Given the description of an element on the screen output the (x, y) to click on. 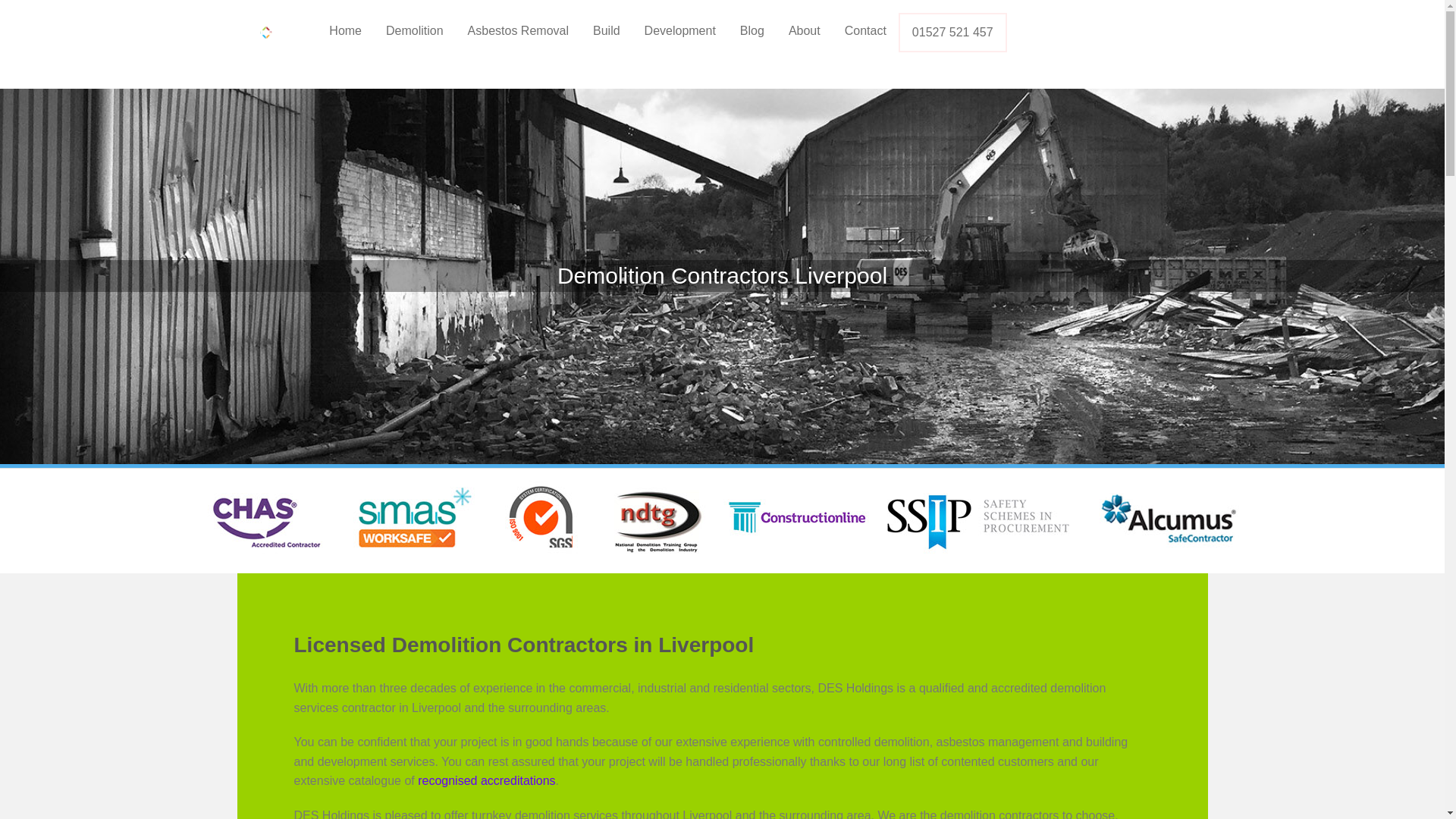
Demolition (414, 31)
Blog (752, 31)
Contact (865, 31)
Development (679, 31)
Asbestos Removal (517, 31)
01527 521 457 (952, 32)
About (804, 31)
cirtifications (721, 514)
Build (605, 31)
Home (345, 31)
recognised accreditations (485, 780)
